Given the description of an element on the screen output the (x, y) to click on. 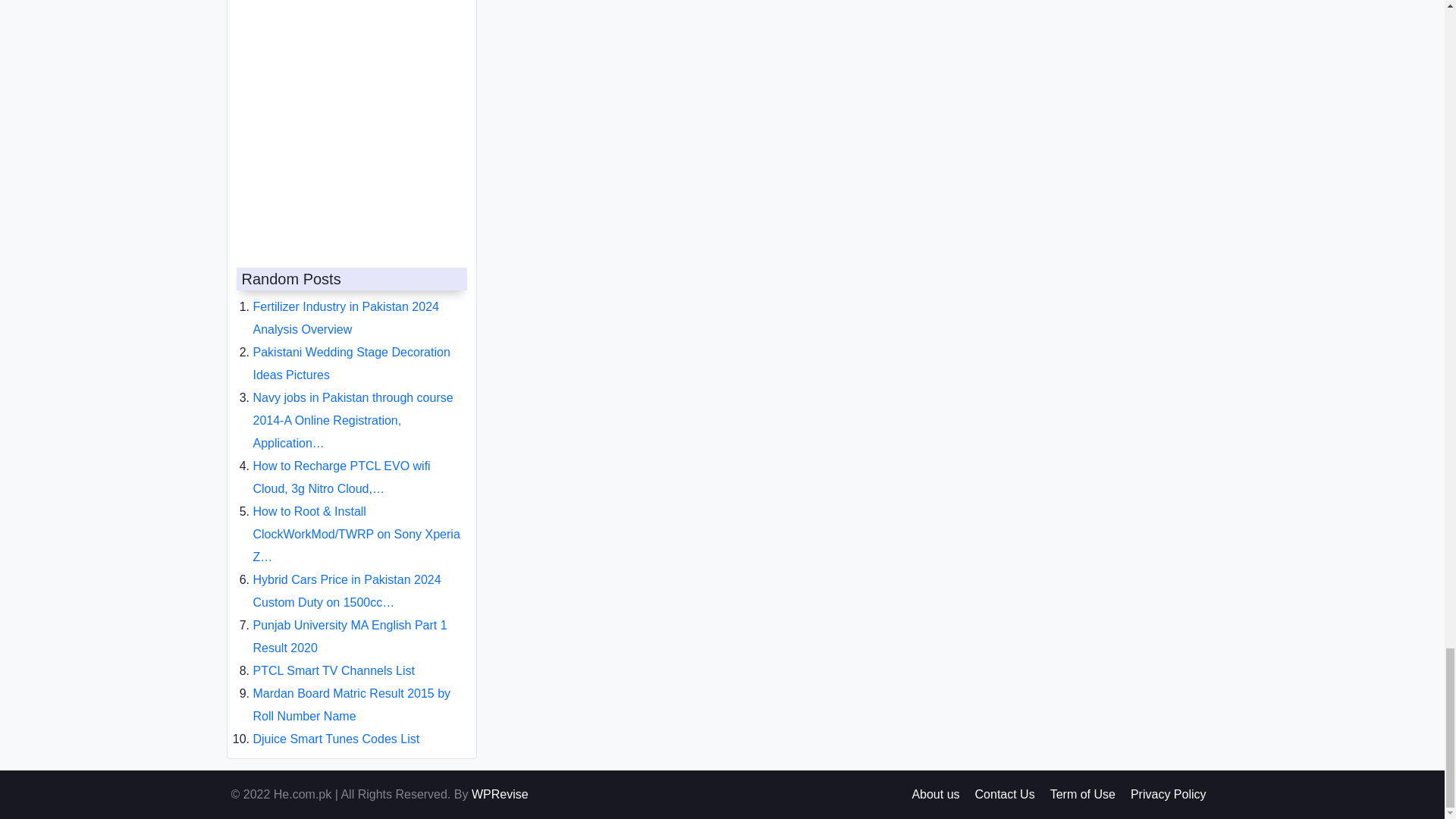
Advertisement (346, 118)
Pakistani Wedding Stage Decoration Ideas Pictures (351, 351)
Fertilizer Industry in Pakistan 2024 Analysis Overview (346, 305)
